Given the description of an element on the screen output the (x, y) to click on. 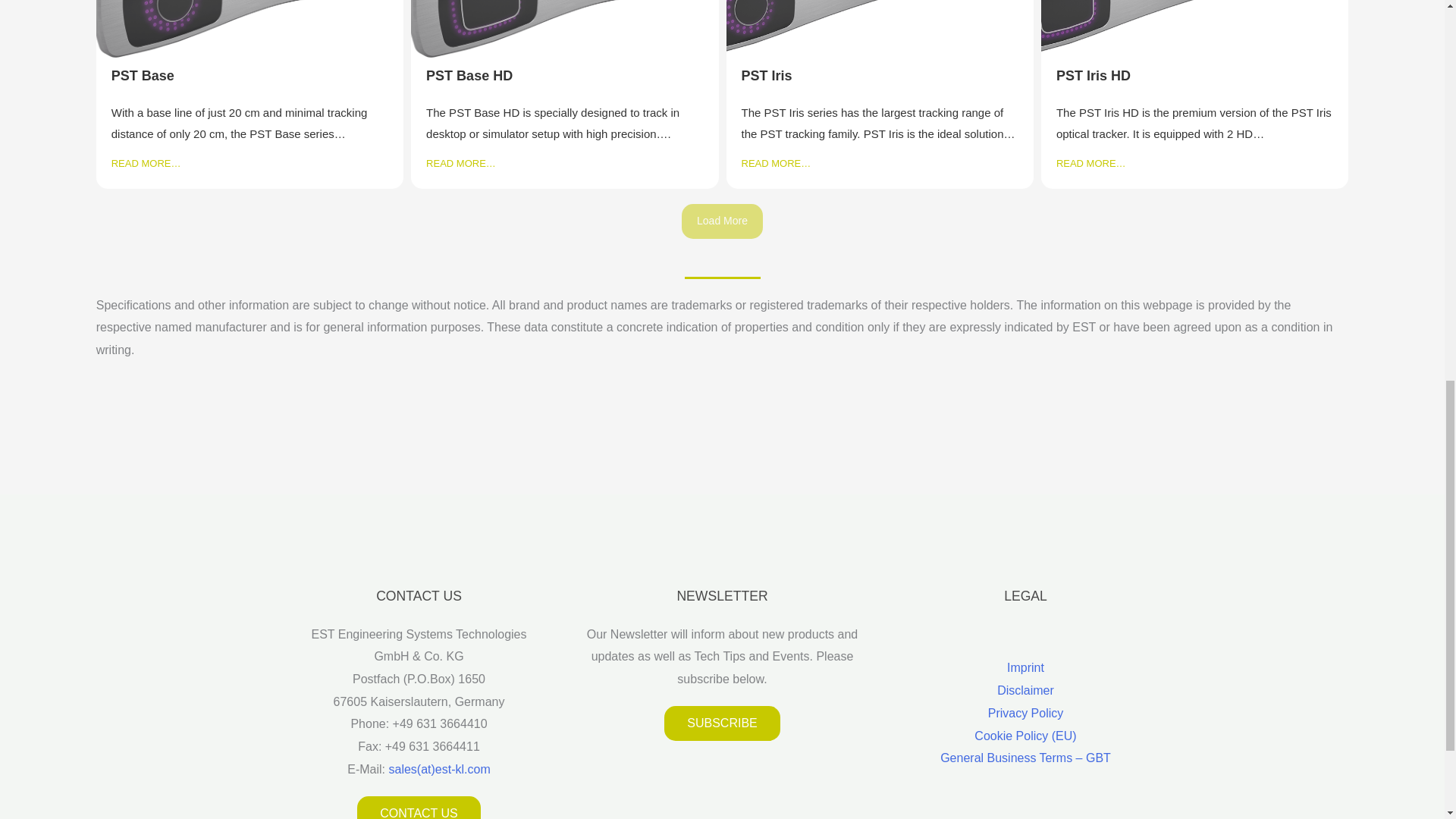
PST Iris (766, 75)
PST Iris HD (1094, 75)
PST Base (143, 75)
PST Base HD (469, 75)
